Given the description of an element on the screen output the (x, y) to click on. 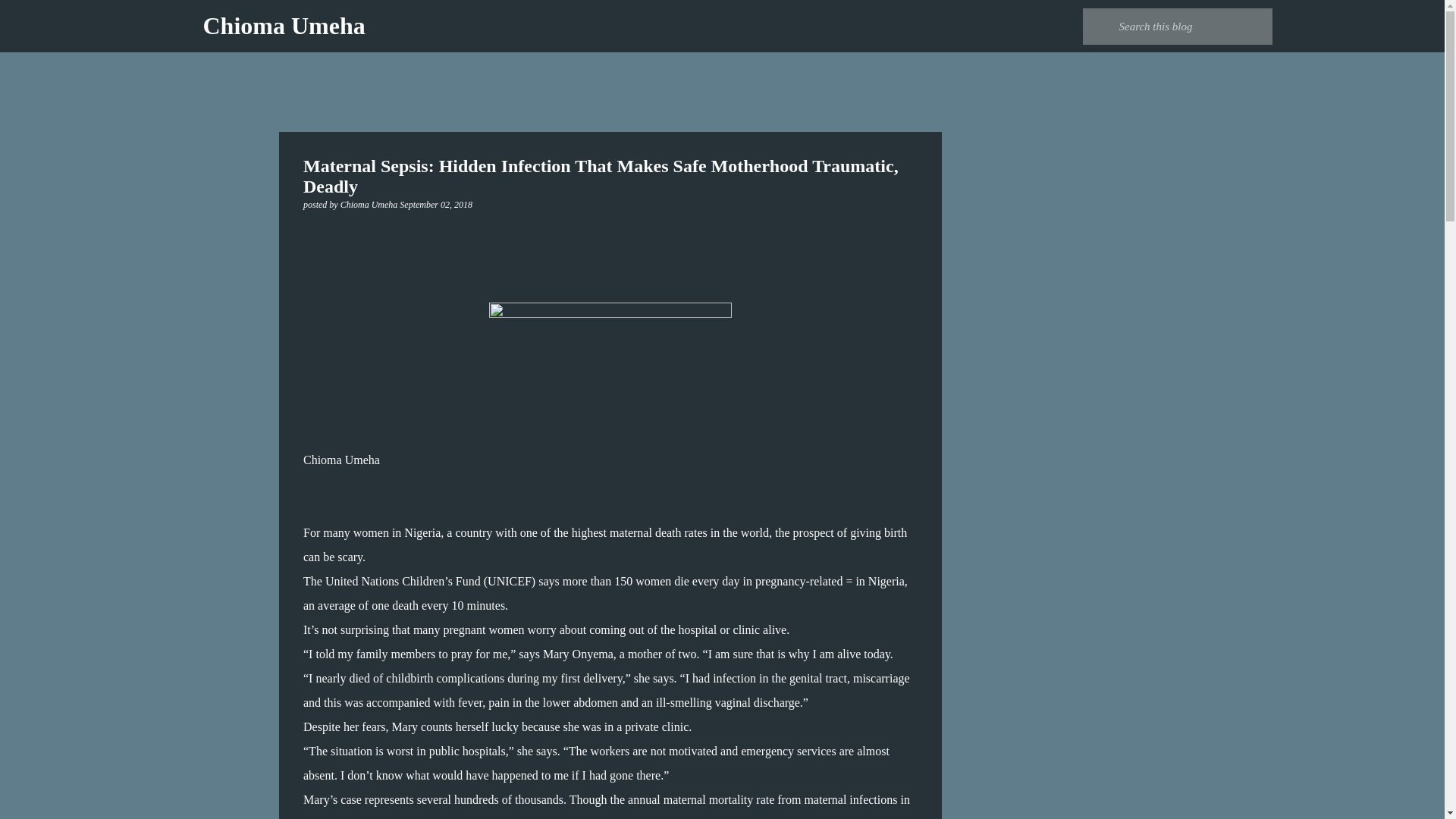
author profile (370, 204)
Chioma Umeha (370, 204)
permanent link (434, 204)
Chioma Umeha (284, 25)
September 02, 2018 (434, 204)
